Given the description of an element on the screen output the (x, y) to click on. 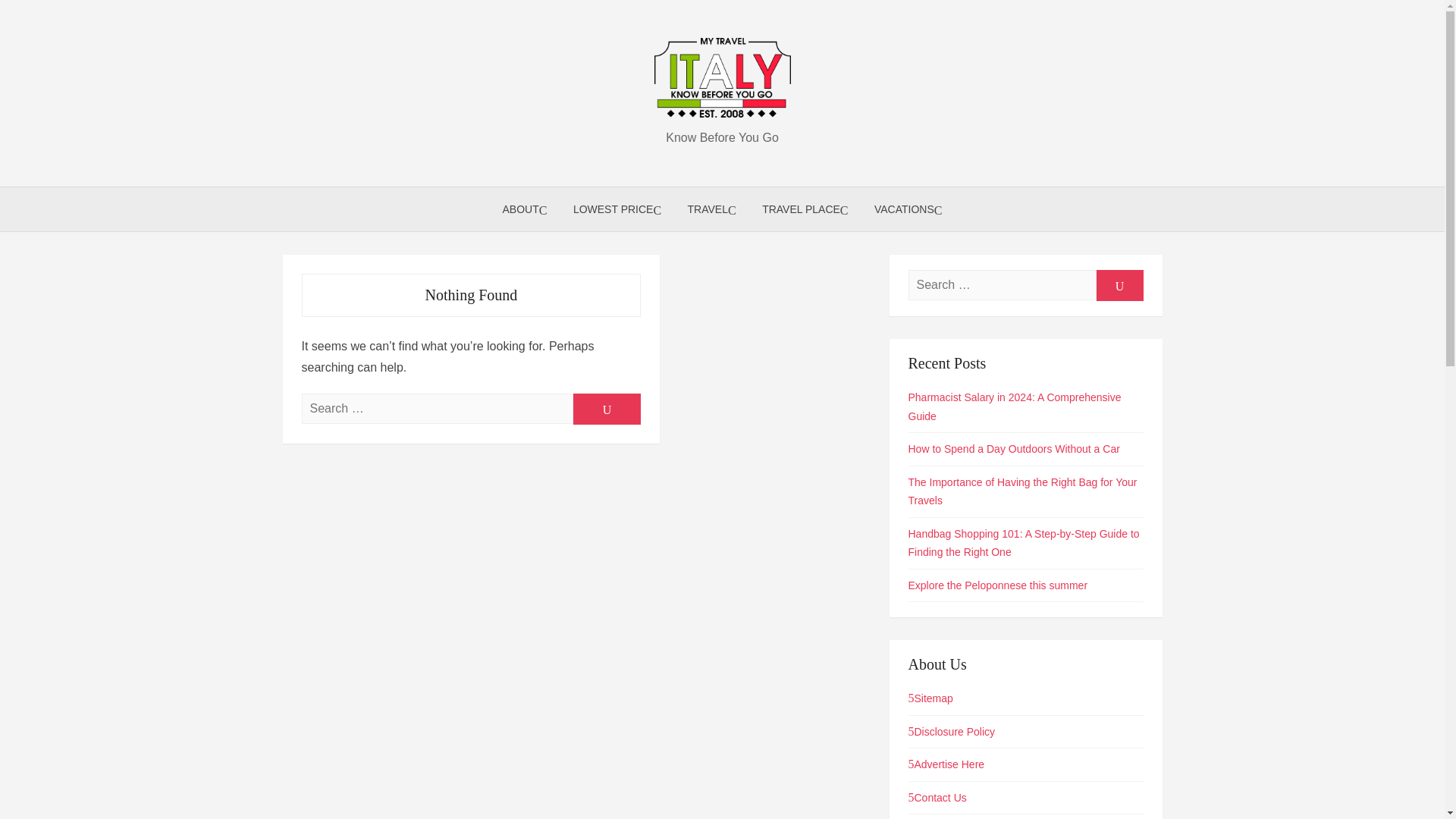
Pharmacist Salary in 2024: A Comprehensive Guide (1014, 406)
How to Spend a Day Outdoors Without a Car (1013, 449)
TRAVEL (712, 209)
SEARCH (607, 409)
VACATIONS (908, 209)
SEARCH (1119, 285)
TRAVEL PLACE (805, 209)
ABOUT (525, 209)
LOWEST PRICE (617, 209)
